Given the description of an element on the screen output the (x, y) to click on. 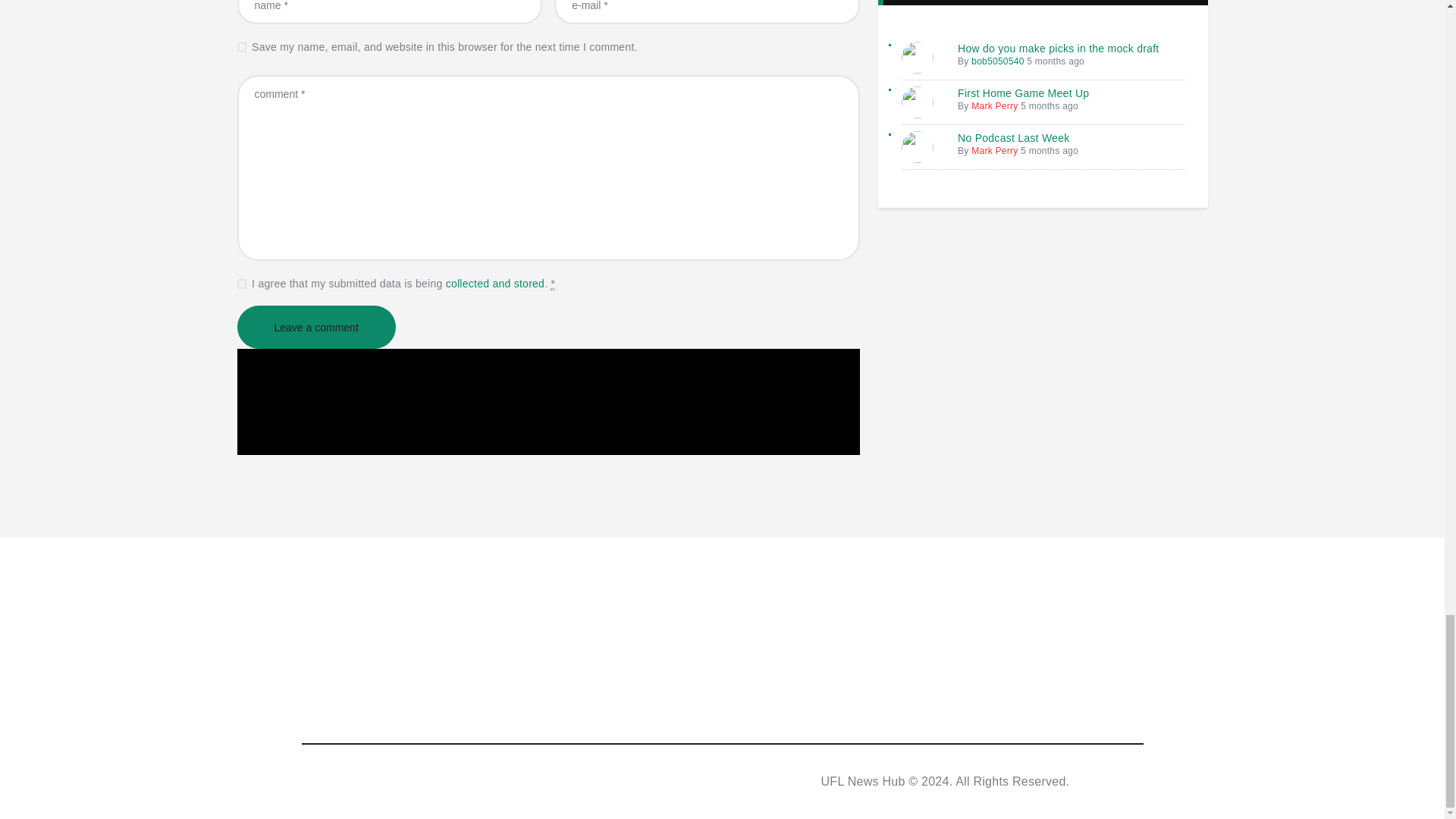
First Home Game Meet Up (1023, 92)
bob5050540 (997, 61)
Mark Perry (994, 105)
No Podcast Last Week (1013, 137)
yes (240, 44)
1 (240, 280)
Leave a comment (314, 326)
How do you make picks in the mock draft (1058, 48)
